Given the description of an element on the screen output the (x, y) to click on. 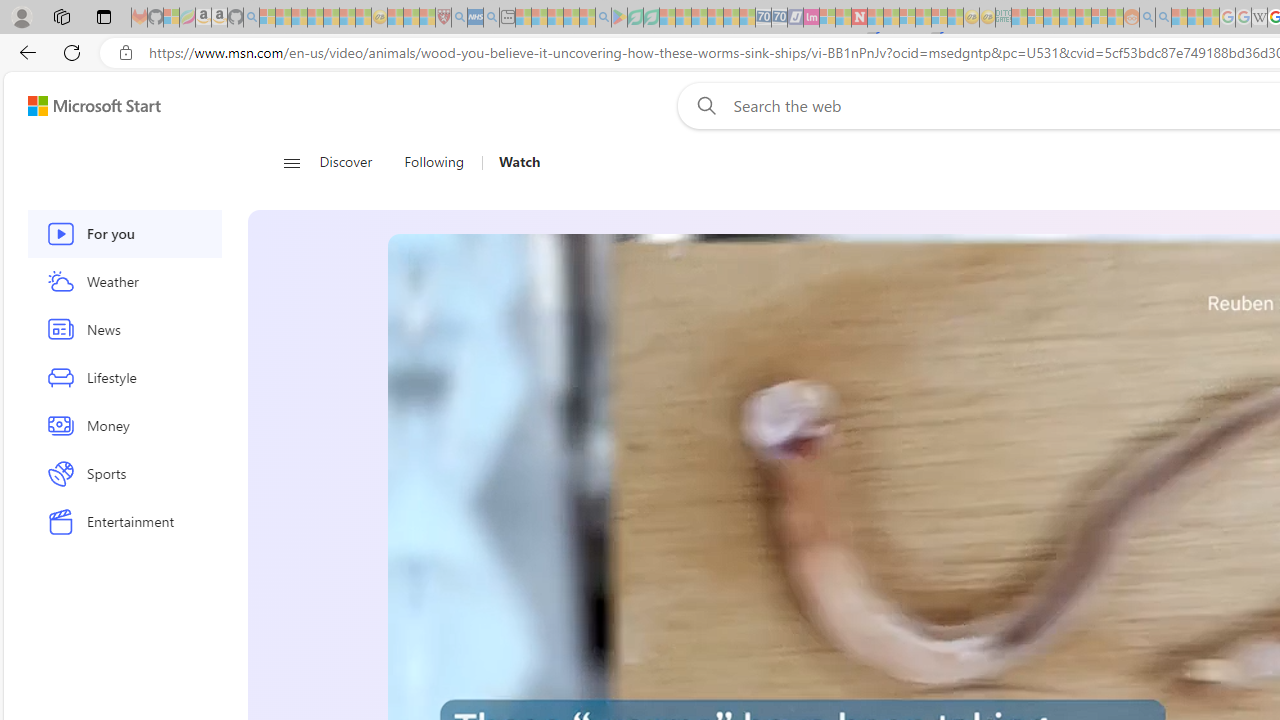
New Report Confirms 2023 Was Record Hot | Watch - Sleeping (331, 17)
Web search (702, 105)
utah sues federal government - Search - Sleeping (491, 17)
Pets - MSN - Sleeping (571, 17)
